Given the description of an element on the screen output the (x, y) to click on. 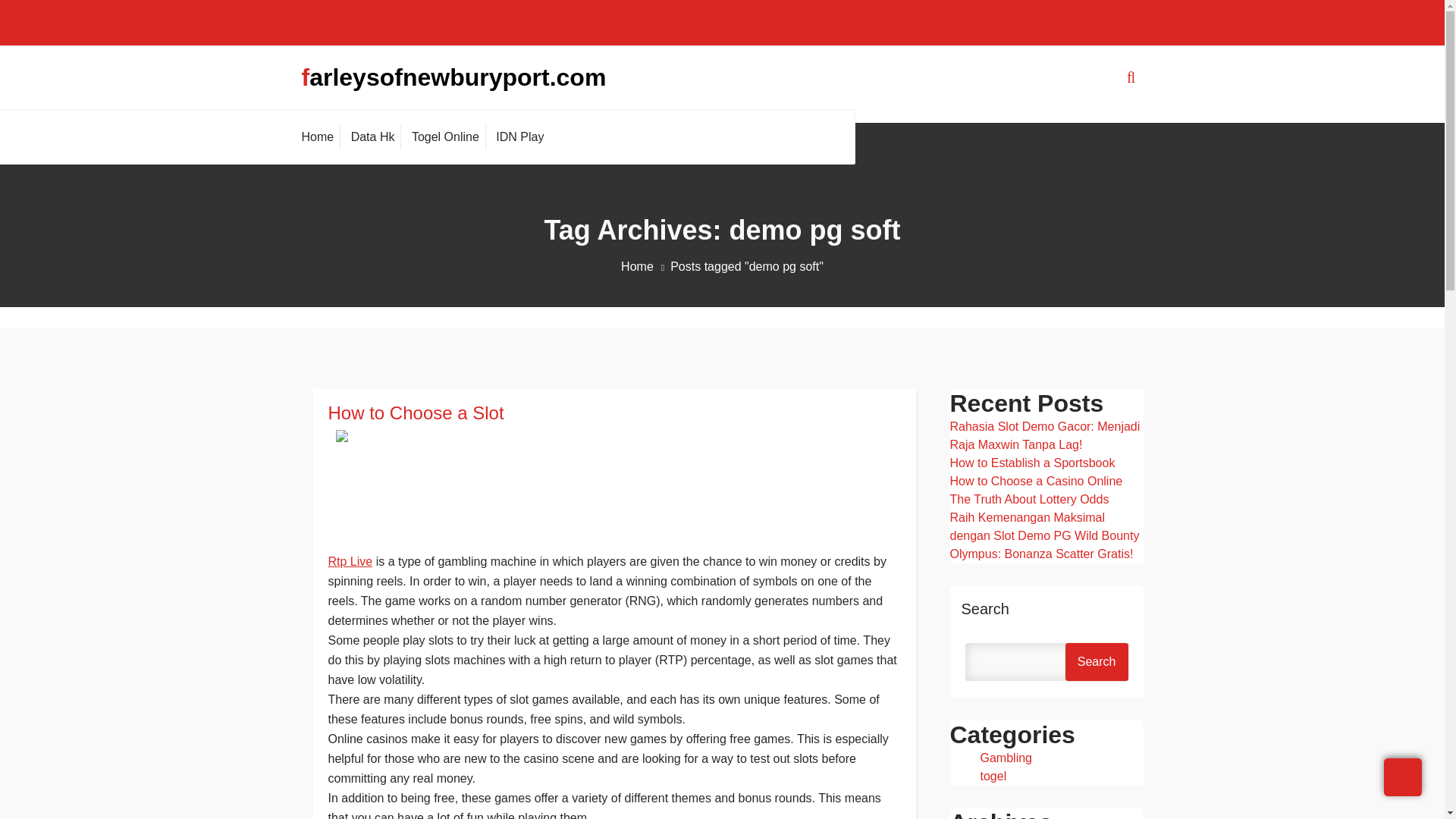
How to Choose a Casino Online (1035, 481)
Data Hk (372, 136)
Data Hk (372, 136)
Togel Online (445, 136)
Search (1096, 661)
The Truth About Lottery Odds (1028, 499)
IDN Play (519, 136)
farleysofnewburyport.com (454, 77)
Togel Online (445, 136)
Rahasia Slot Demo Gacor: Menjadi Raja Maxwin Tanpa Lag! (1044, 435)
